Given the description of an element on the screen output the (x, y) to click on. 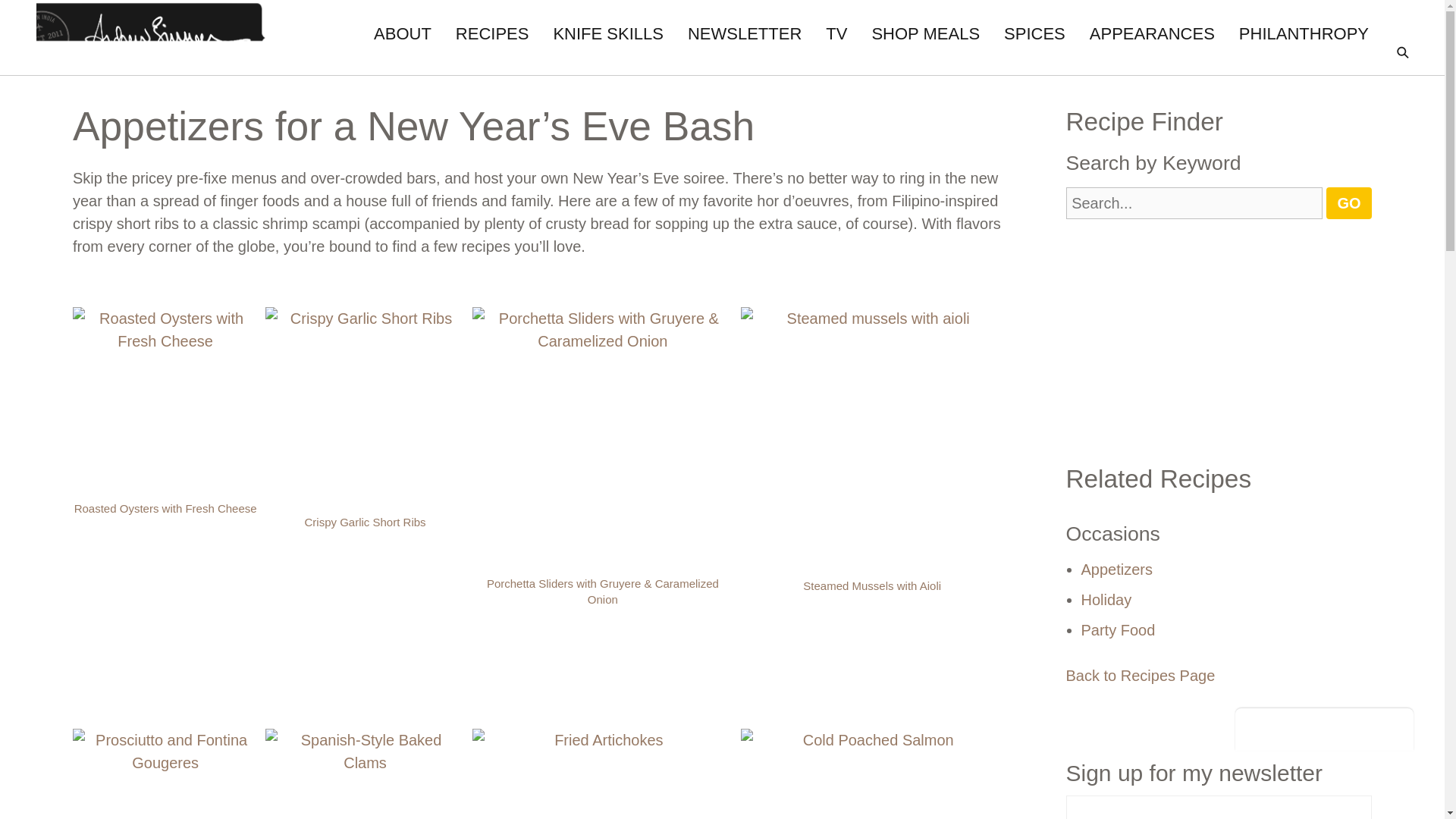
Steamed Mussels with Aioli (871, 585)
Instagram (1359, 725)
NEWSLETTER (744, 33)
PINTEREST (1323, 725)
Search (22, 17)
FACEBOOK (1252, 725)
SHOP MEALS (925, 33)
Pinterest (1323, 725)
ABOUT (402, 33)
SPICES (1034, 33)
